Given the description of an element on the screen output the (x, y) to click on. 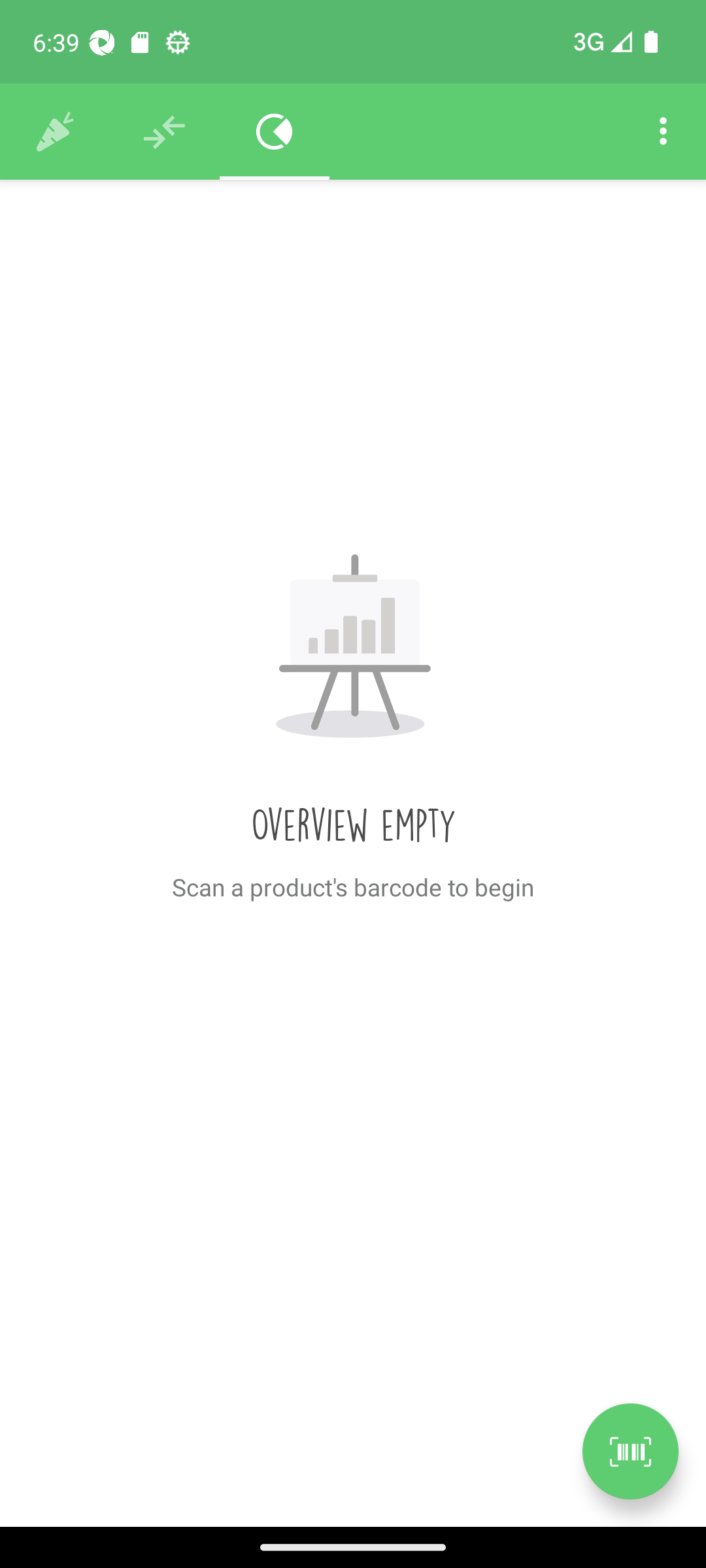
History (55, 131)
Recommendations (164, 131)
Settings (663, 131)
Scan a product (630, 1451)
